Given the description of an element on the screen output the (x, y) to click on. 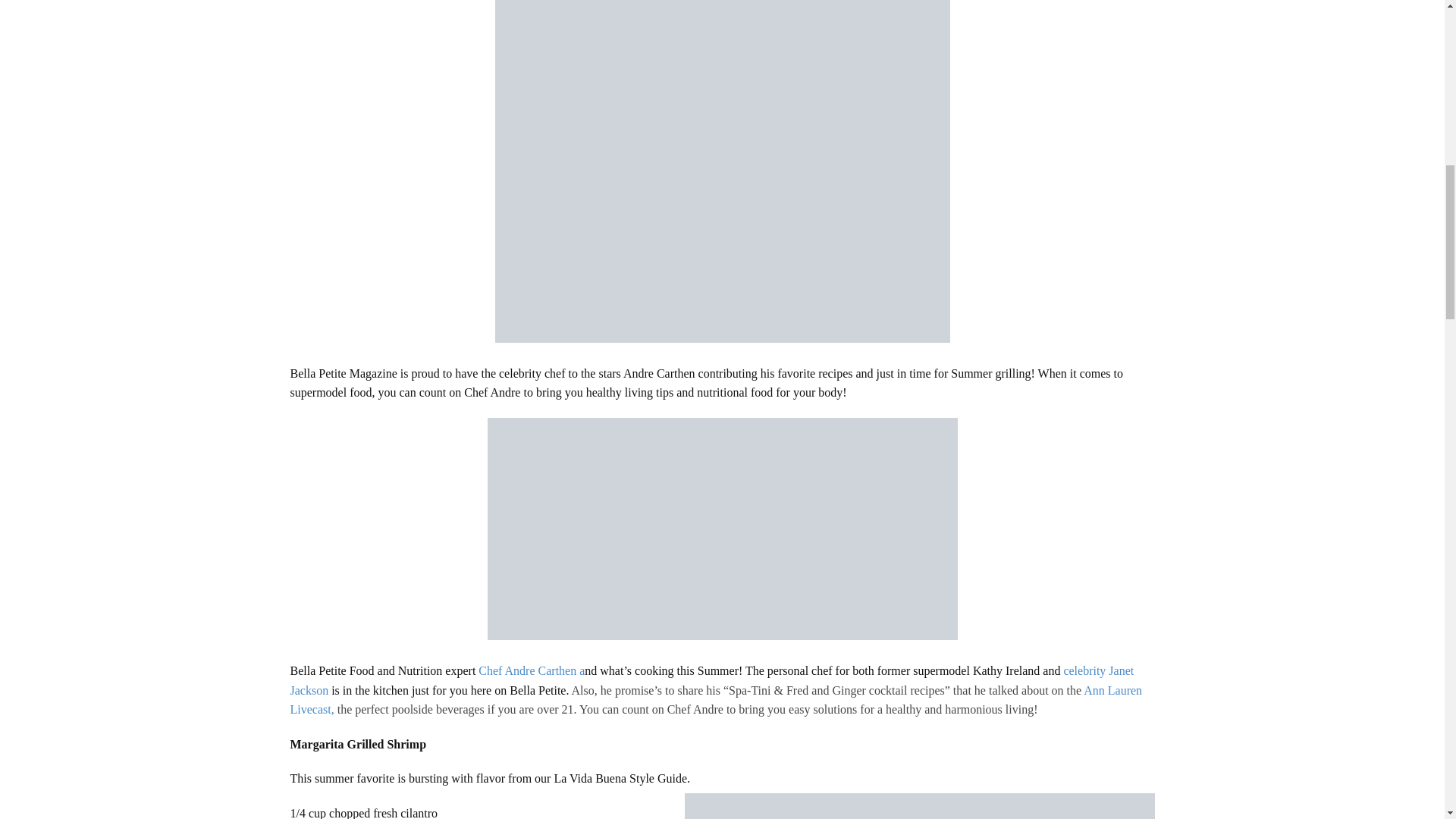
Chef Andre Carthen a (532, 670)
celebrity Janet Jackson (711, 680)
Ann Lauren Livecast, (715, 699)
